Given the description of an element on the screen output the (x, y) to click on. 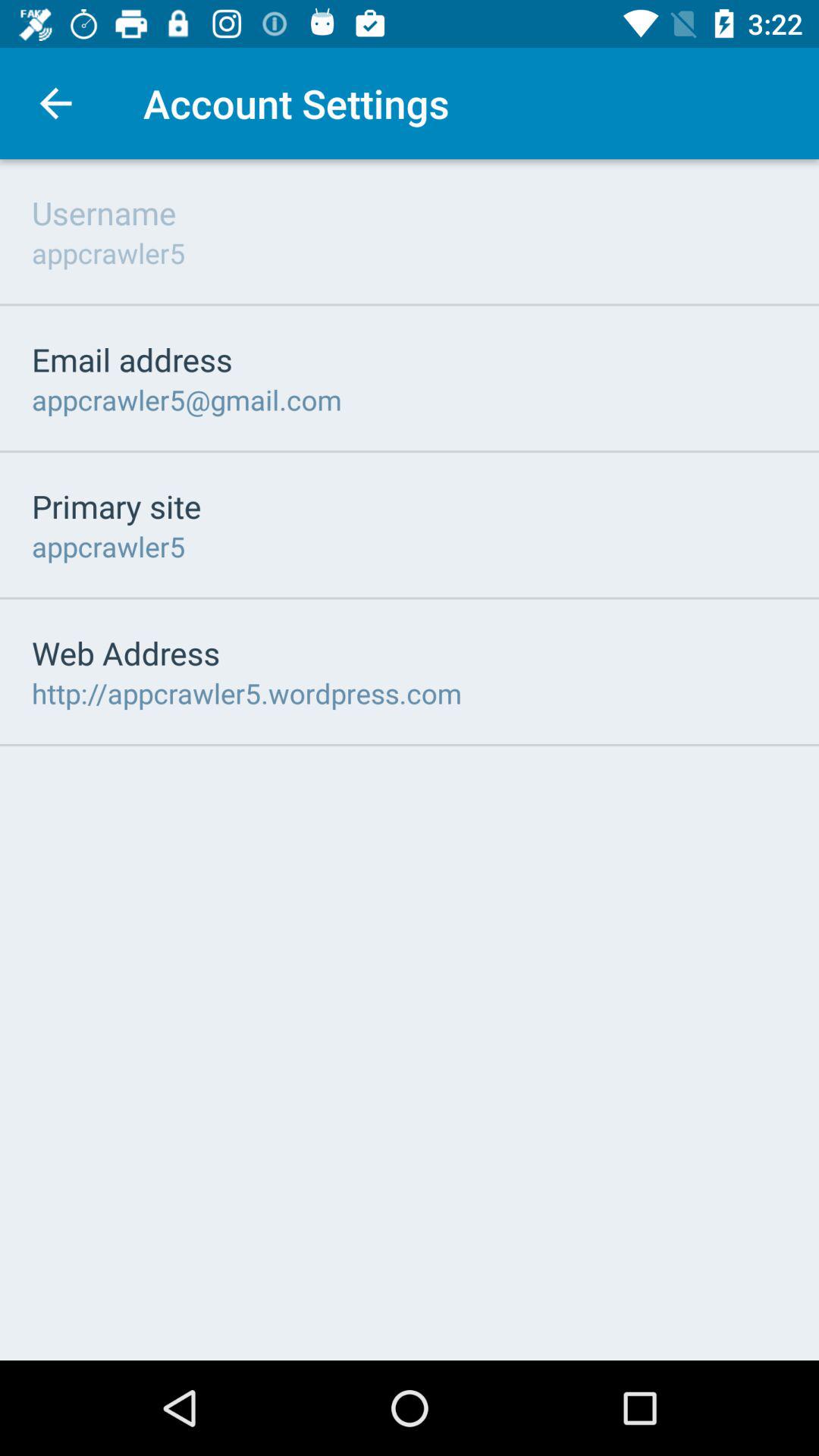
open icon above appcrawler5 (103, 212)
